Given the description of an element on the screen output the (x, y) to click on. 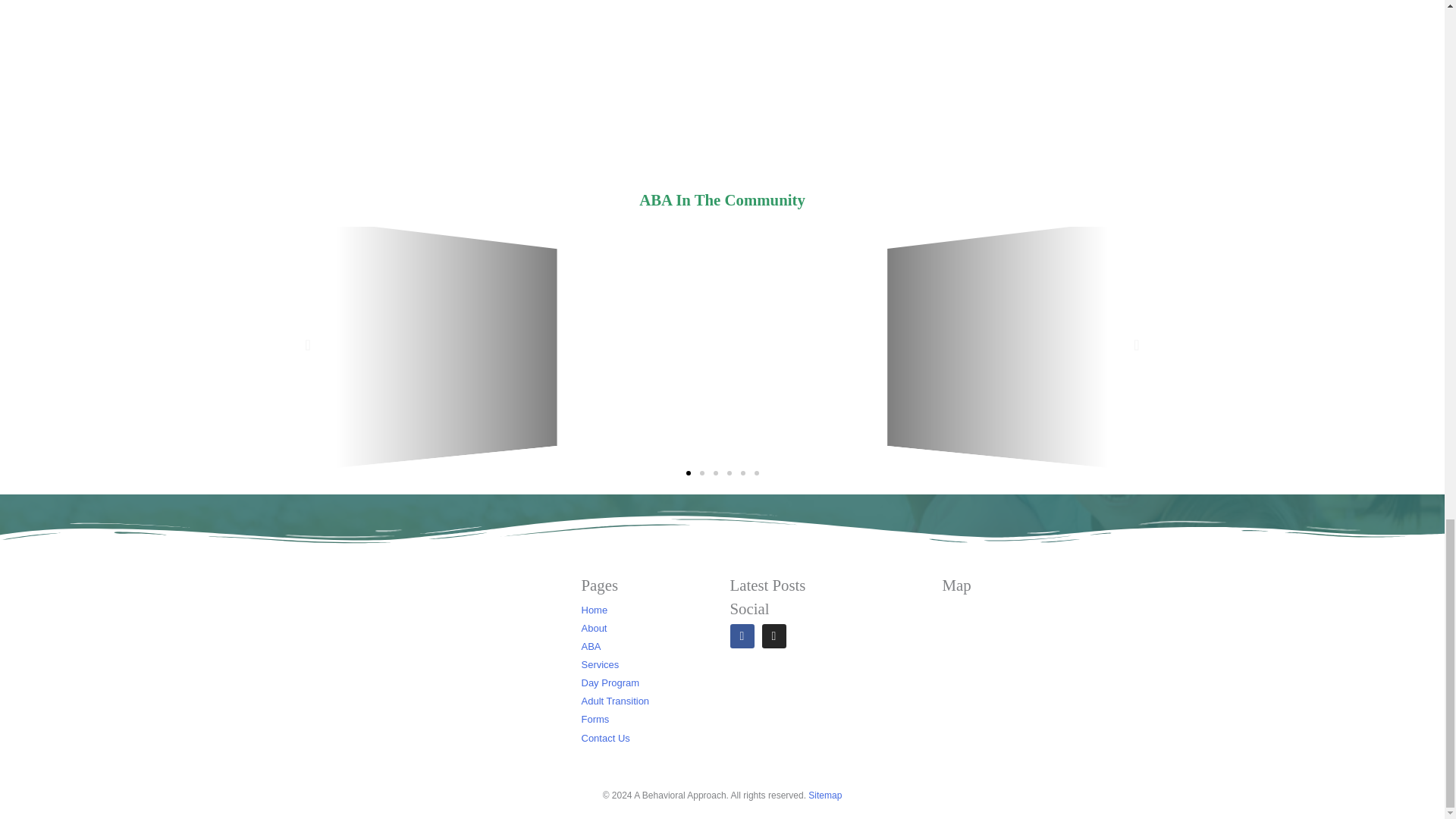
Sitemap (824, 795)
Forms (678, 719)
ABA (678, 647)
Day Program (678, 683)
Home (678, 610)
About (678, 628)
Adult Transition (678, 701)
4 Davis Rd West in Old Lyme, Ct (1040, 678)
Services (678, 665)
Contact Us (678, 738)
